Given the description of an element on the screen output the (x, y) to click on. 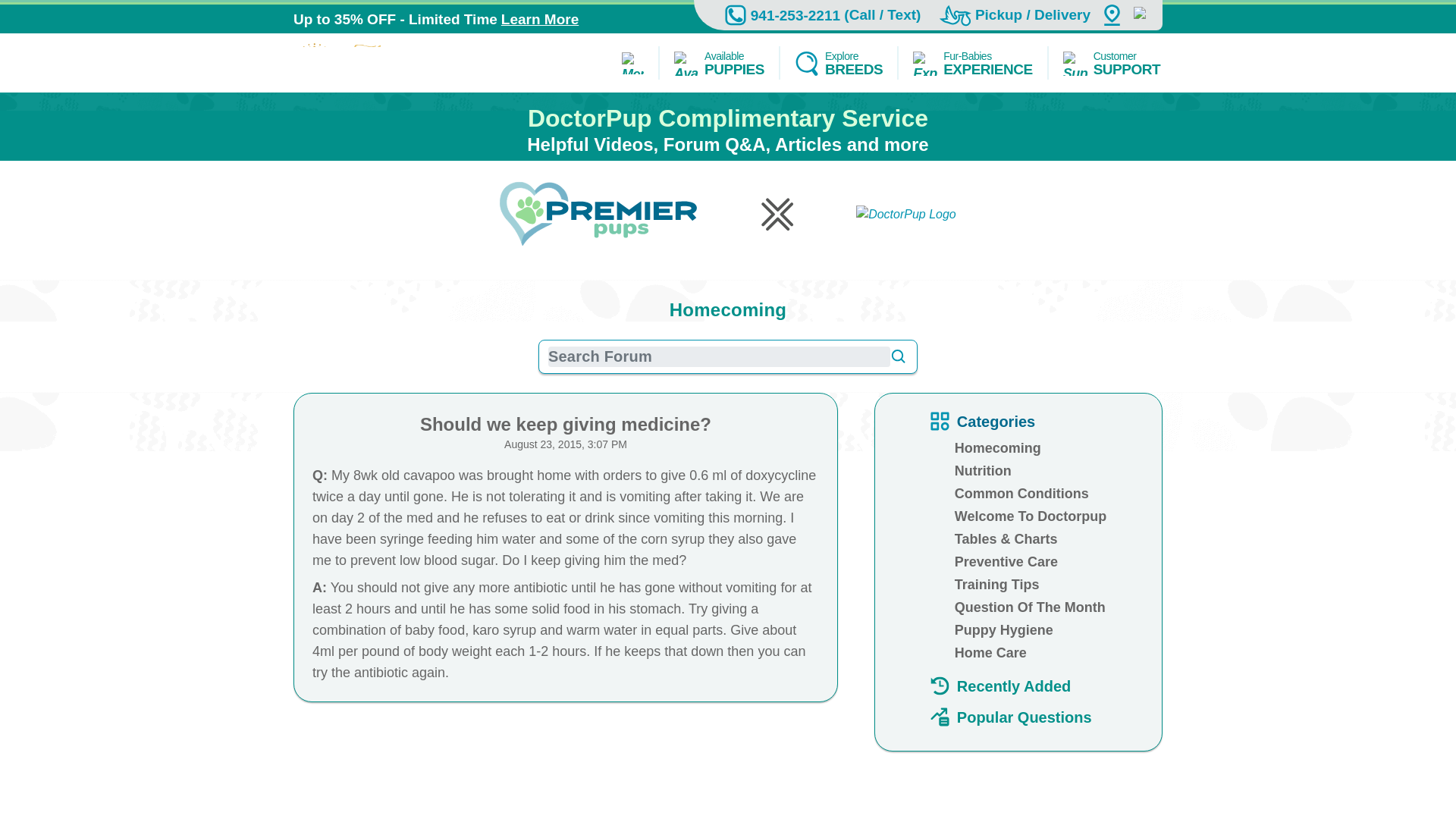
Delivery Options (972, 62)
Nutrition (1014, 15)
Recently Added (983, 470)
Welcome To Doctorpup (1000, 685)
Florida Fur Babies (1030, 516)
Common Conditions (378, 63)
Popular Questions (1022, 493)
Learn More (1011, 716)
Puppy Hygiene (539, 19)
Home Care (838, 62)
Question Of The Month (1003, 630)
